Given the description of an element on the screen output the (x, y) to click on. 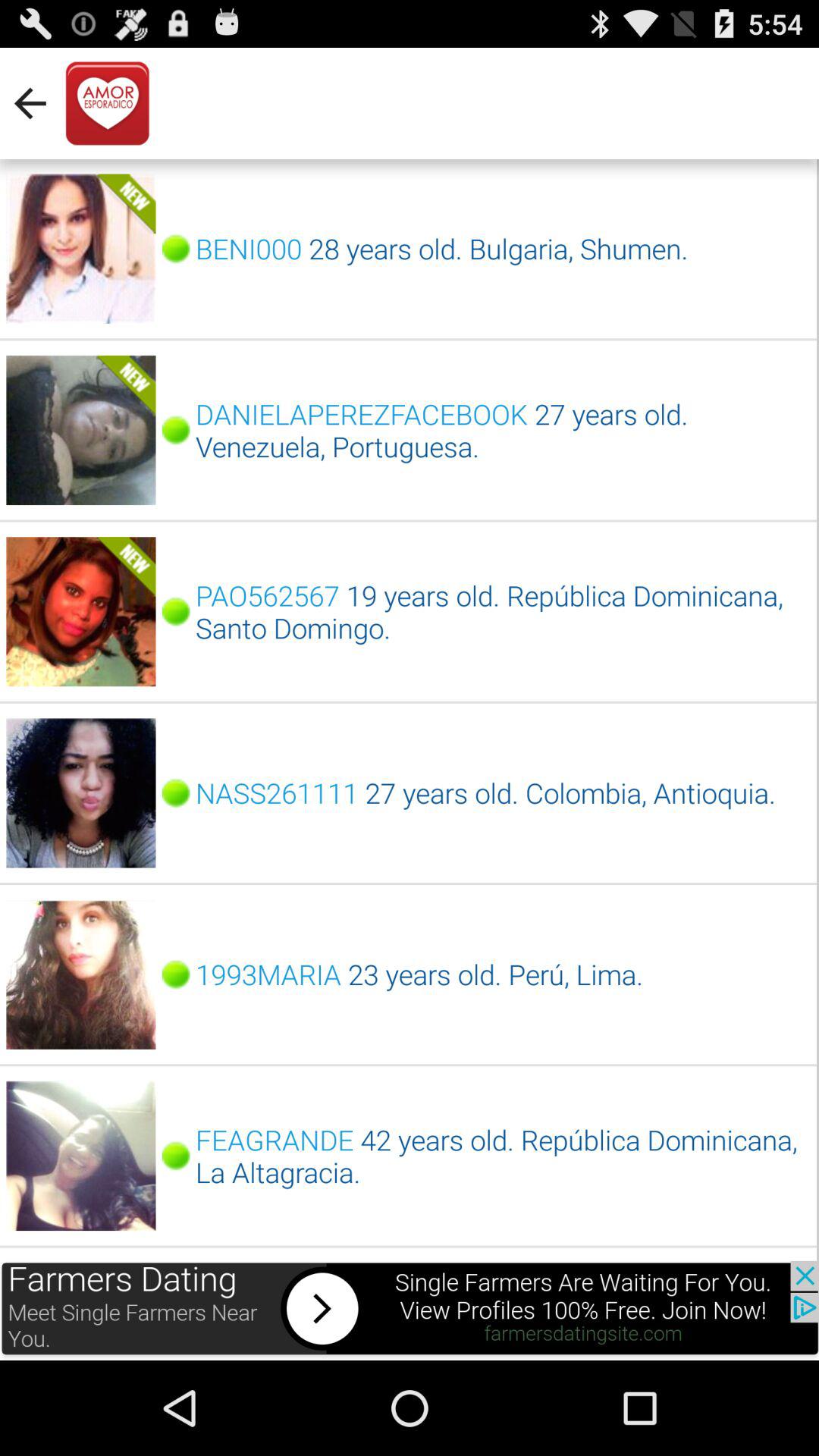
advertisement option (409, 1310)
